Given the description of an element on the screen output the (x, y) to click on. 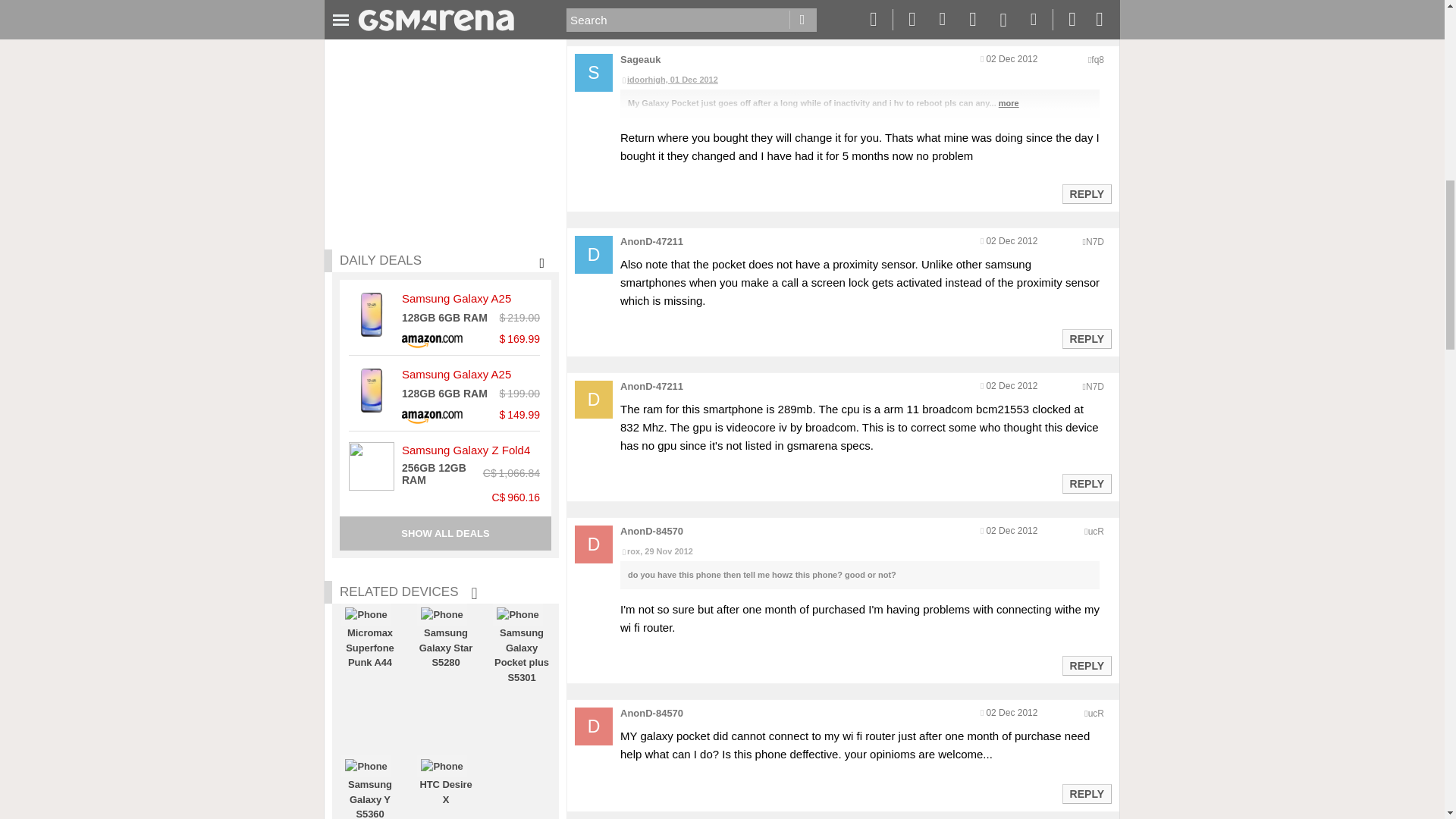
Encoded anonymized location (1094, 241)
Encoded anonymized location (1095, 531)
Reply to this post (1086, 483)
Encoded anonymized location (1096, 59)
Reply to this post (1086, 11)
Reply to this post (1086, 338)
Reply to this post (1086, 193)
Encoded anonymized location (1094, 386)
